Given the description of an element on the screen output the (x, y) to click on. 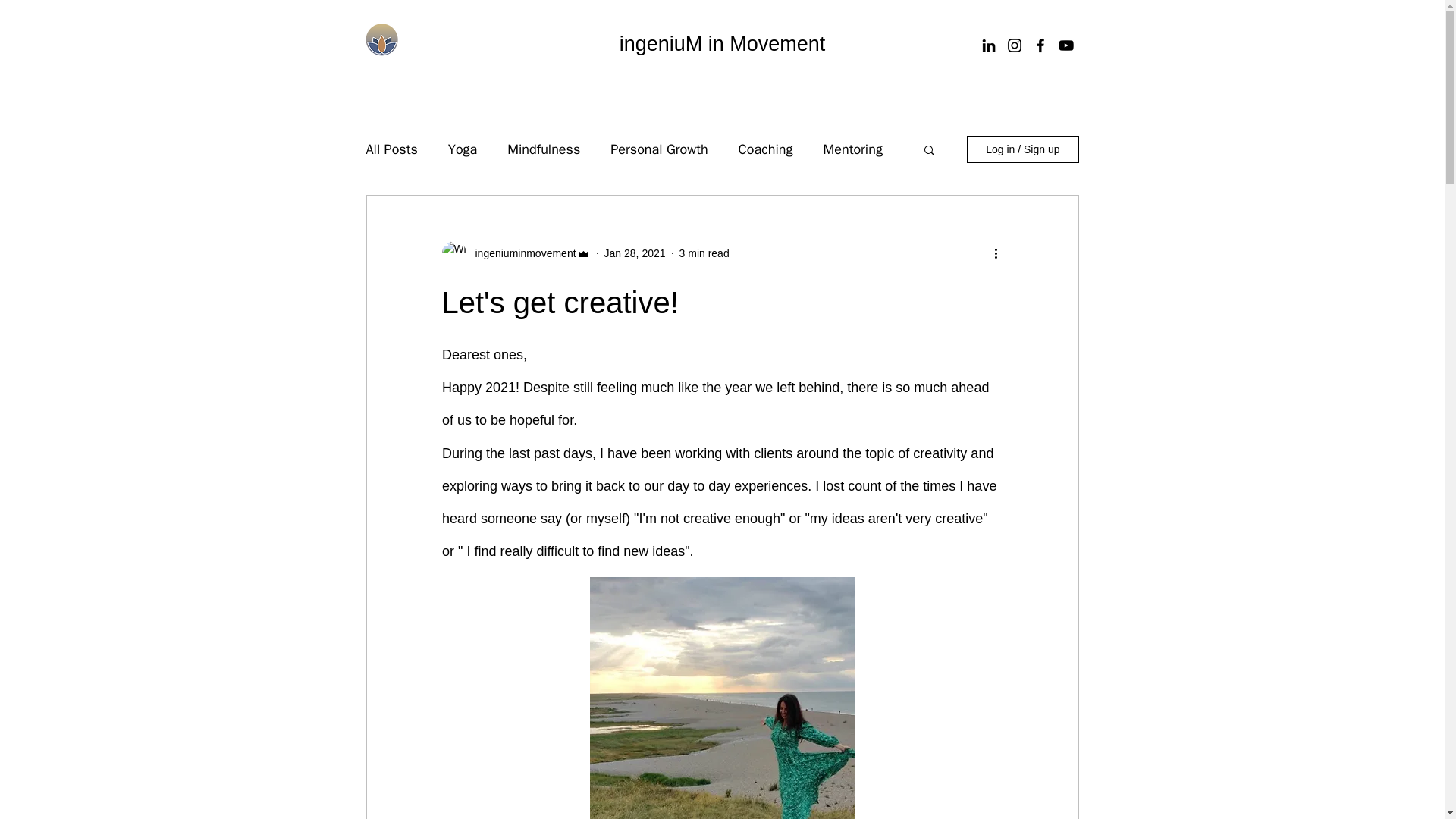
3 min read (704, 253)
Mentoring (853, 149)
Mindfulness (542, 149)
Coaching (765, 149)
Jan 28, 2021 (634, 253)
ingeniuminmovement (515, 252)
Personal Growth (658, 149)
Yoga (462, 149)
All Posts (390, 149)
ingeniuminmovement (520, 253)
